Given the description of an element on the screen output the (x, y) to click on. 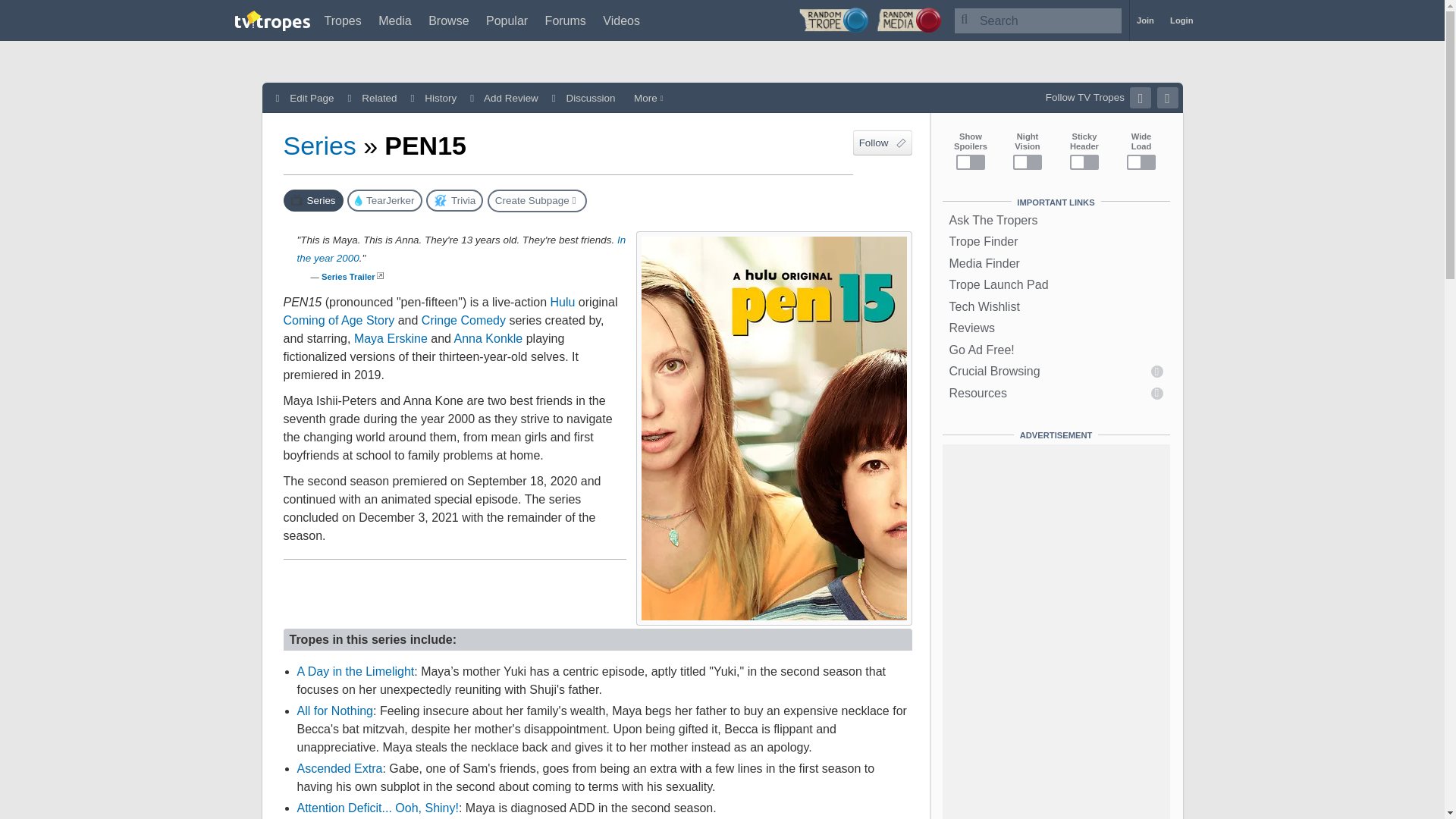
The TearJerker page (384, 200)
Forums (565, 20)
Media (395, 20)
The Series page (313, 200)
Popular (506, 20)
Tropes (342, 20)
Videos (621, 20)
Browse (448, 20)
The Trivia page (454, 200)
Login (1181, 20)
